Given the description of an element on the screen output the (x, y) to click on. 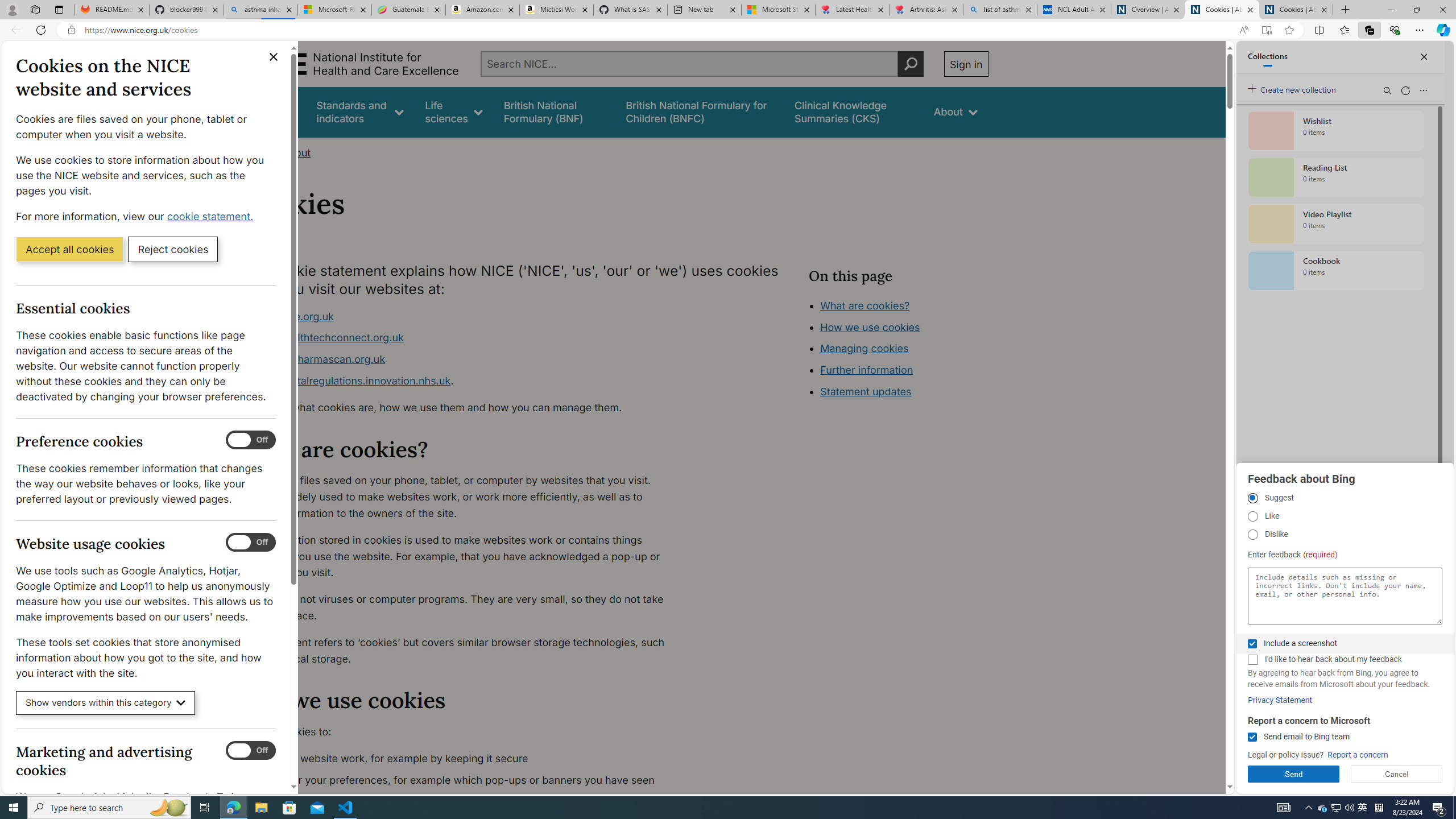
How we use cookies (869, 327)
I'd like to hear back about my feedback (1252, 659)
Send email to Bing team (1251, 737)
Home> (258, 152)
false (853, 111)
www.ukpharmascan.org.uk (464, 359)
list of asthma inhalers uk - Search (1000, 9)
Suggest (1252, 498)
Report a concern (1358, 755)
